Given the description of an element on the screen output the (x, y) to click on. 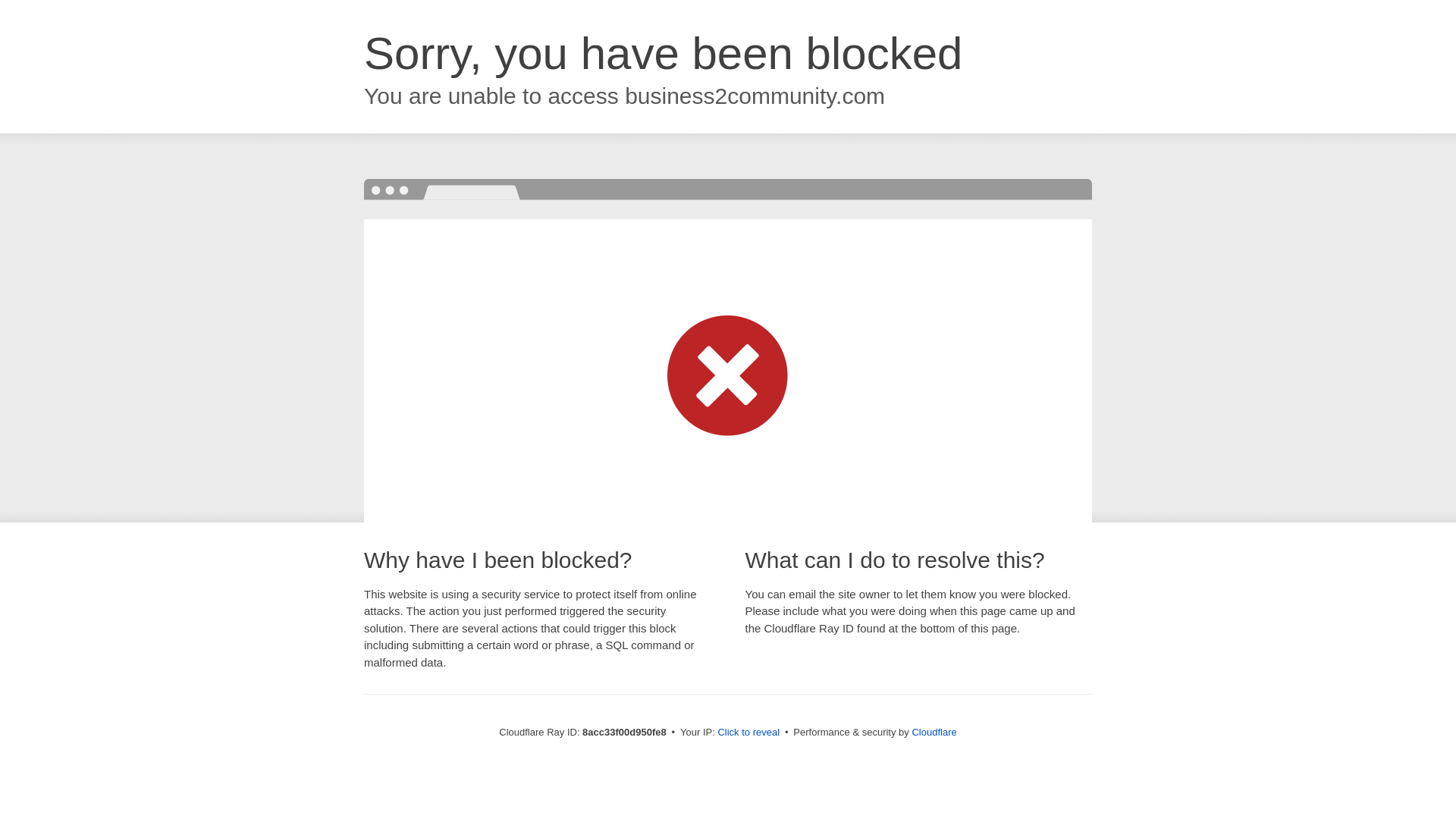
Cloudflare (933, 731)
Click to reveal (747, 732)
